Given the description of an element on the screen output the (x, y) to click on. 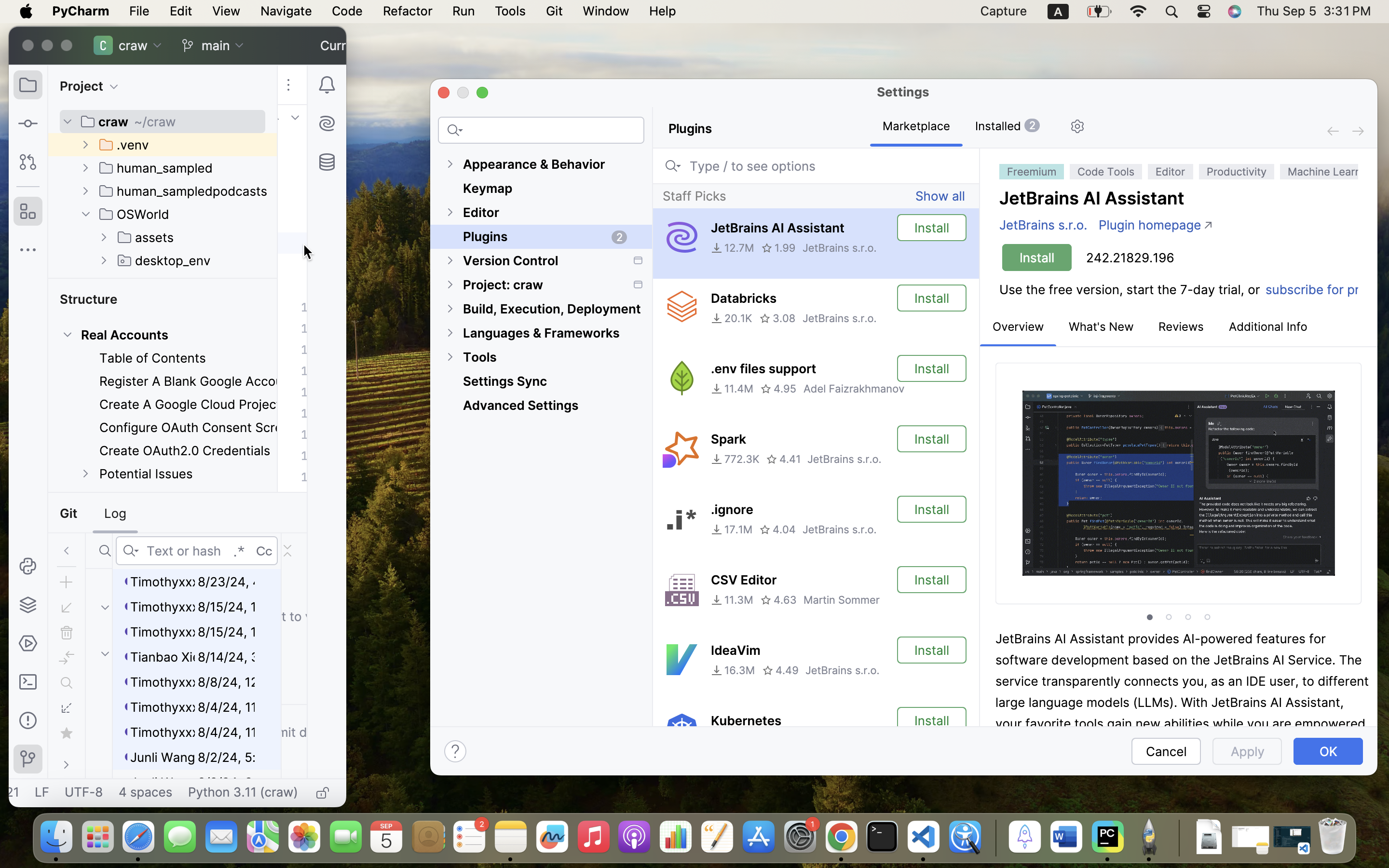
Adel Faizrakhmanov Element type: AXStaticText (853, 388)
242.21829.196 Element type: AXTextField (1130, 257)
20.1K Element type: AXStaticText (731, 318)
Kubernetes Element type: AXStaticText (745, 720)
17.1M Element type: AXStaticText (731, 529)
